Given the description of an element on the screen output the (x, y) to click on. 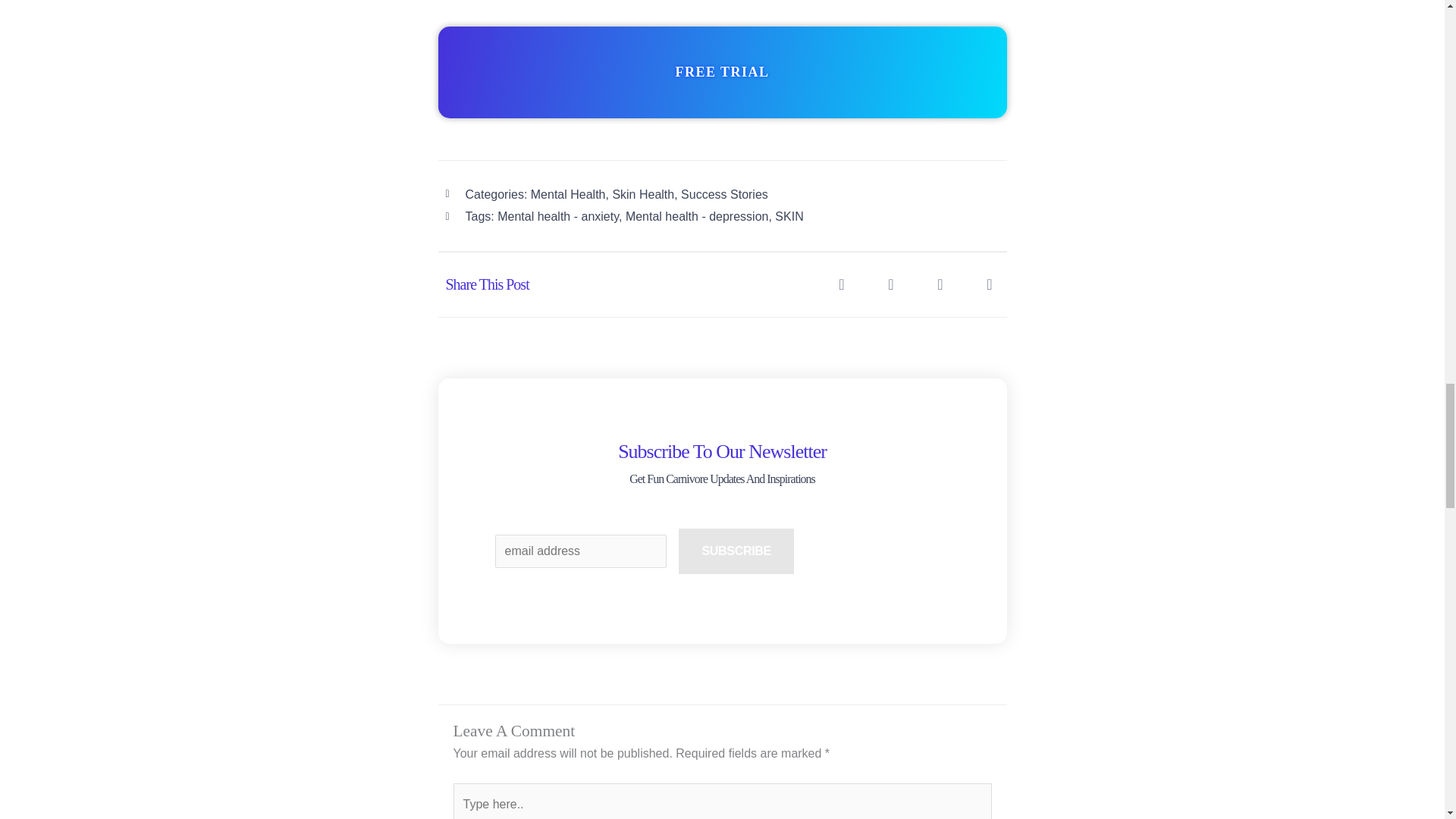
Success Stories (724, 194)
Mental Health (568, 194)
Skin Health (642, 194)
Subscribe (735, 551)
Mental health - anxiety (557, 215)
SKIN (788, 215)
FREE TRIAL (721, 72)
Mental health - depression (697, 215)
